Given the description of an element on the screen output the (x, y) to click on. 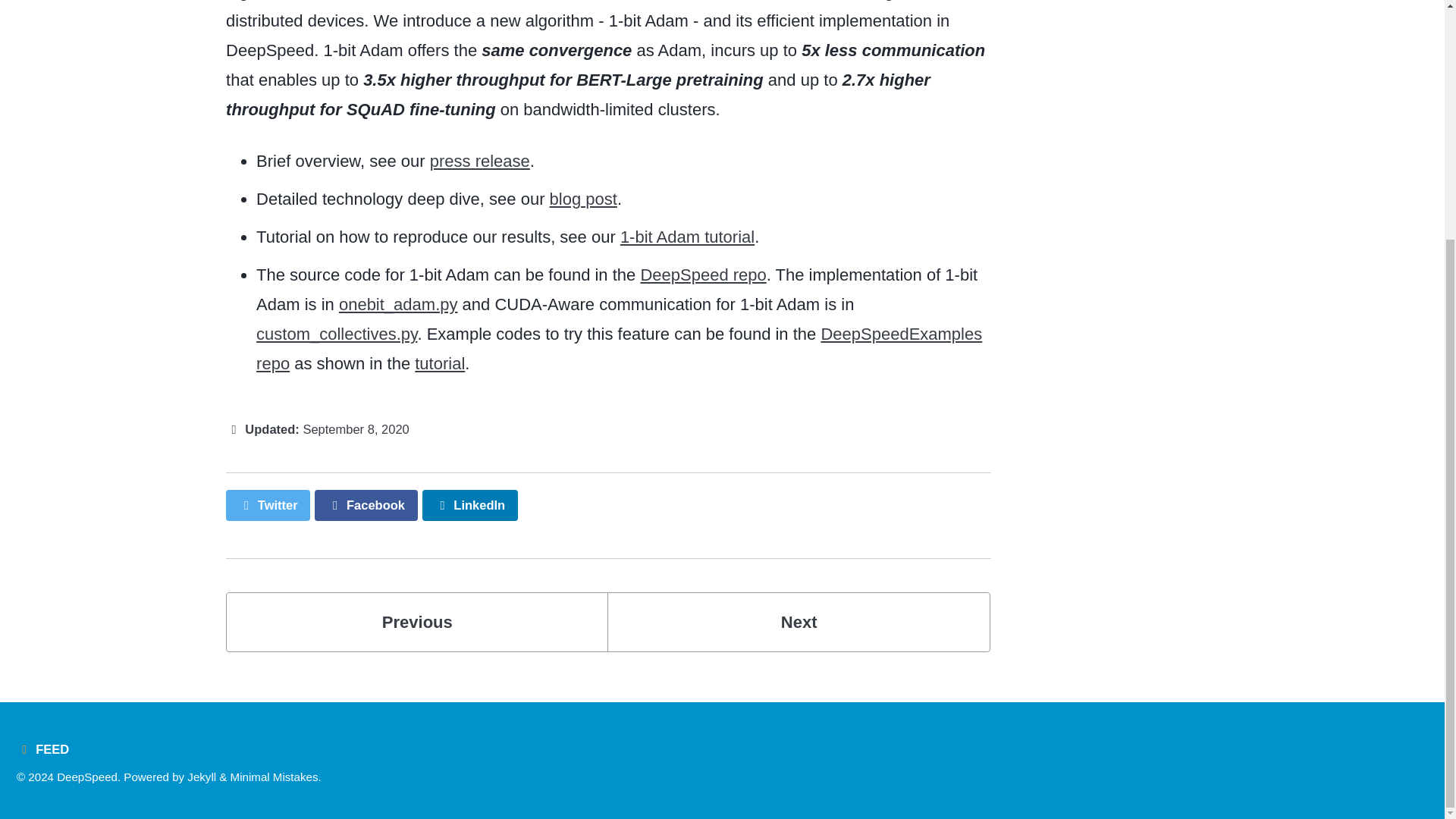
blog post (583, 198)
DeepSpeedExamples repo (618, 348)
LinkedIn (470, 504)
Facebook (365, 504)
Share on Facebook (365, 504)
Next (798, 621)
Share on LinkedIn (470, 504)
tutorial (439, 363)
Share on Twitter (267, 504)
FEED (46, 748)
Previous (416, 621)
Twitter (267, 504)
Jekyll (798, 621)
1-bit Adam tutorial (201, 776)
